Given the description of an element on the screen output the (x, y) to click on. 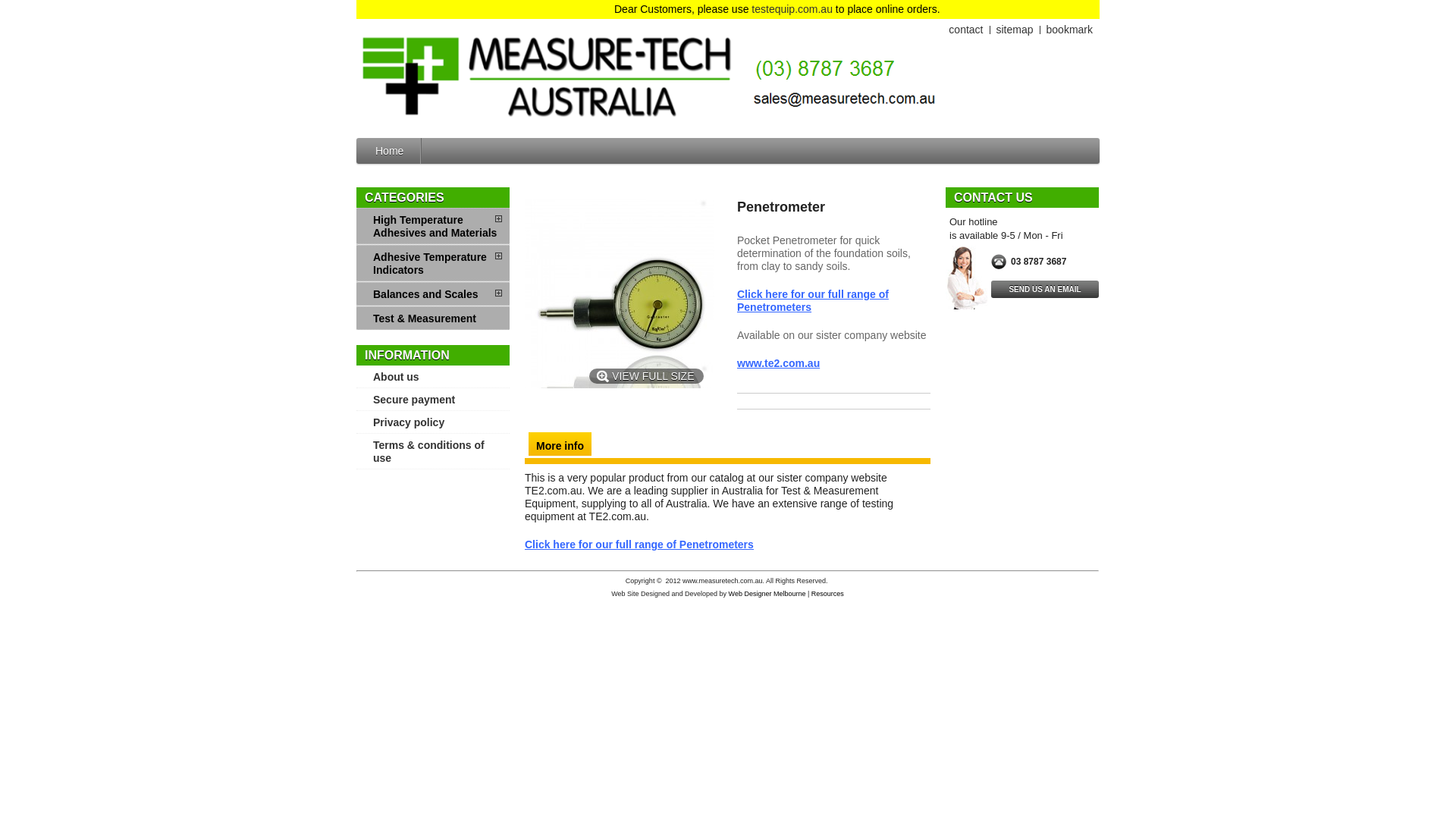
More info Element type: text (559, 445)
Adhesive Temperature Indicators Element type: text (432, 262)
High Temperature Adhesives and Materials Element type: text (432, 225)
Terms & conditions of use Element type: text (432, 450)
bookmark Element type: text (1069, 29)
Test & Measurement Element type: text (432, 317)
Click here for our full range of Penetrometers Element type: text (638, 544)
Click here for our full range of Penetrometers Element type: text (812, 300)
About us Element type: text (432, 376)
testequip.com.au Element type: text (925, 9)
Resources Element type: text (827, 593)
Measure-Tech Element type: hover (647, 75)
Web Designer Melbourne Element type: text (767, 593)
sitemap Element type: text (1014, 29)
contact Element type: text (965, 29)
Penetrometer Element type: hover (619, 293)
INFORMATION Element type: text (406, 354)
Balances and Scales Element type: text (432, 293)
SEND US AN EMAIL Element type: text (1044, 289)
Home Element type: text (390, 150)
www.te2.com.au Element type: text (778, 363)
Privacy policy Element type: text (432, 422)
Secure payment Element type: text (432, 399)
